Given the description of an element on the screen output the (x, y) to click on. 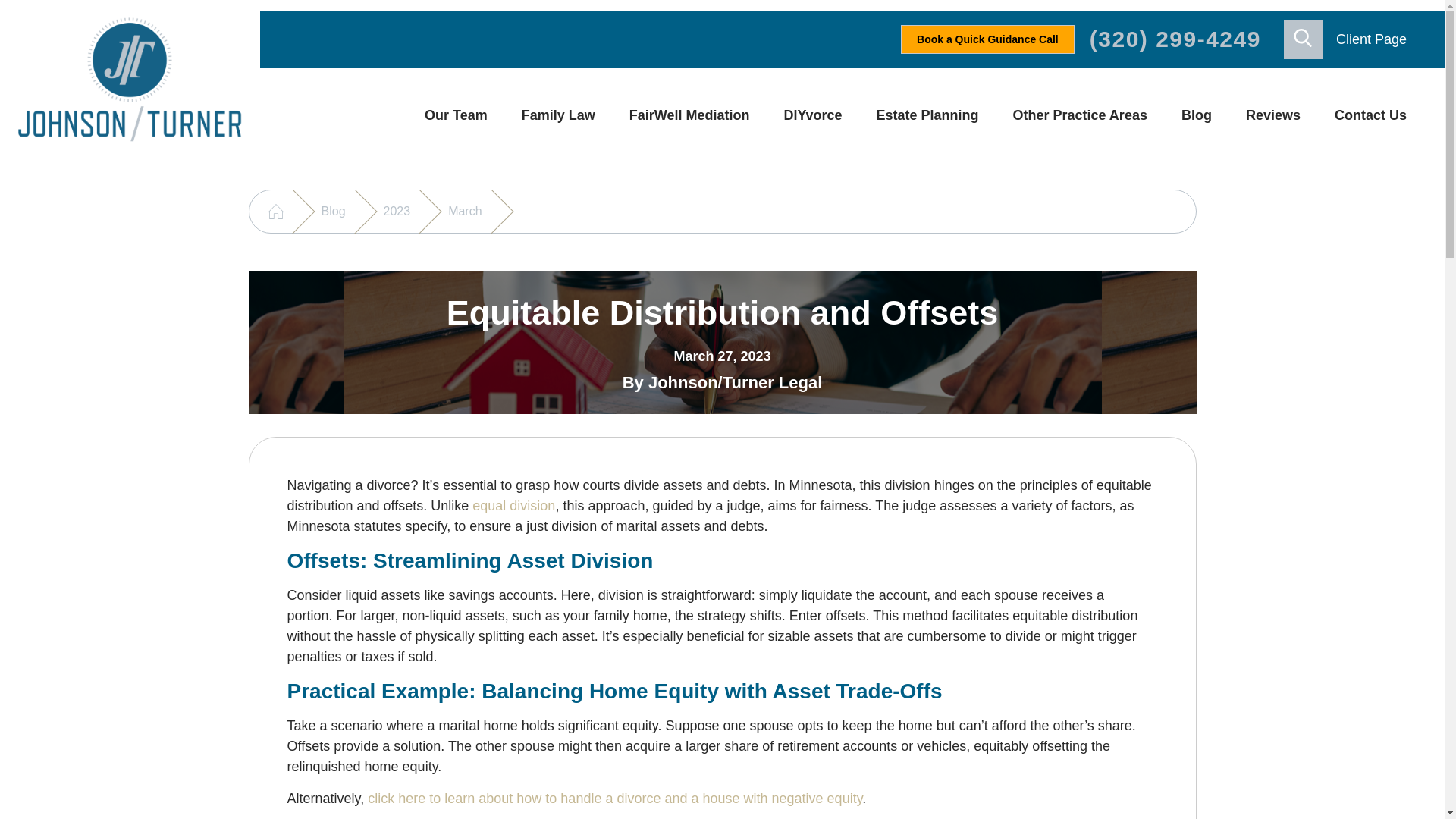
Book a Quick Guidance Call (987, 39)
Client Page (1371, 38)
